Given the description of an element on the screen output the (x, y) to click on. 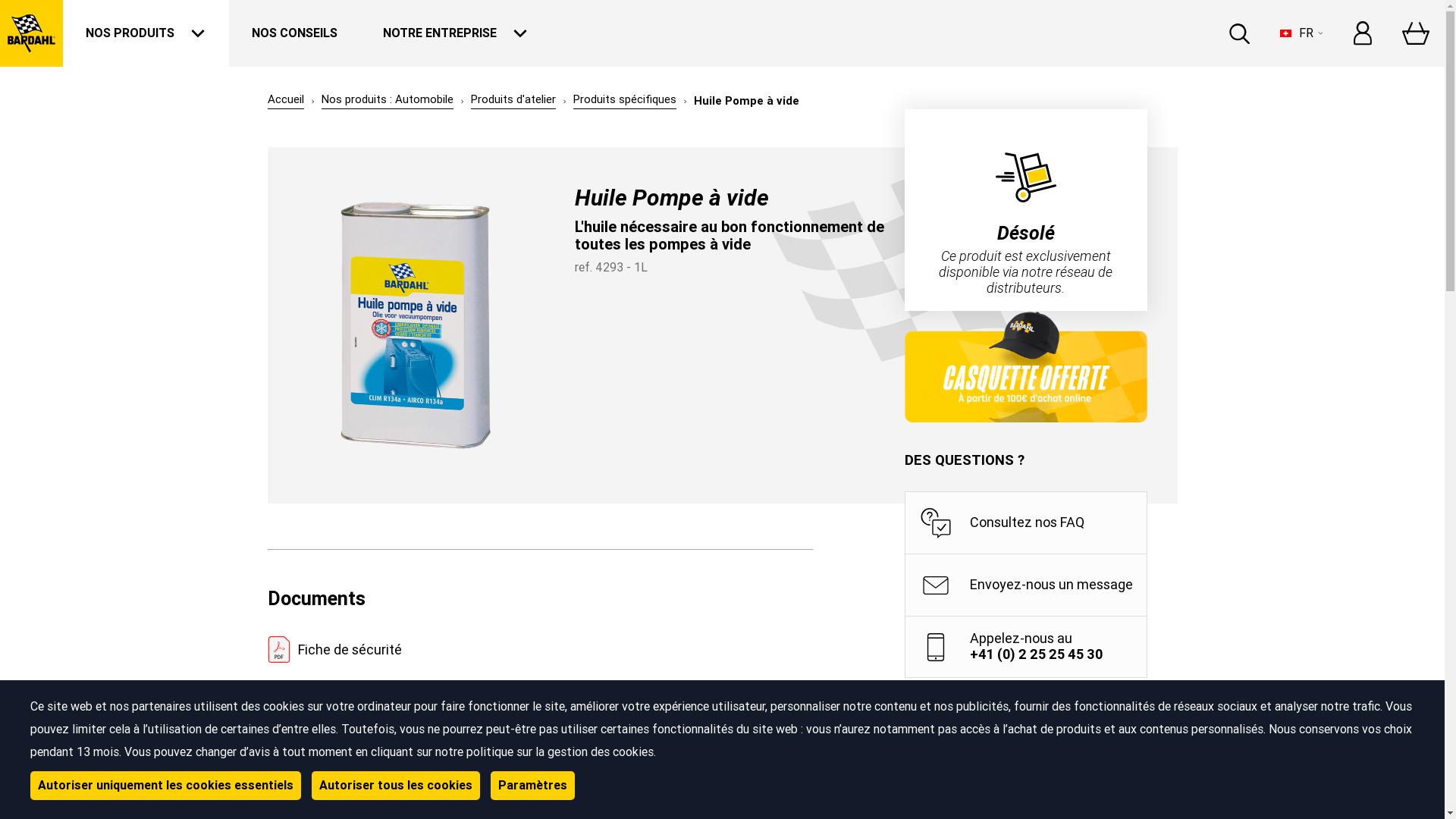
NOTRE ENTREPRISE Element type: text (455, 33)
Envoyez-nous un message Element type: text (1024, 584)
Nos produits : Automobile Element type: text (387, 100)
Produits d'atelier Element type: text (512, 100)
Autoriser tous les cookies Element type: text (395, 785)
NOS PRODUITS Element type: text (145, 33)
Appelez-nous au
+41 (0) 2 25 25 45 30 Element type: text (1024, 646)
NOS CONSEILS Element type: text (294, 33)
Autoriser uniquement les cookies essentiels Element type: text (165, 785)
Accueil Element type: text (284, 100)
Consultez nos FAQ Element type: text (1024, 522)
